Given the description of an element on the screen output the (x, y) to click on. 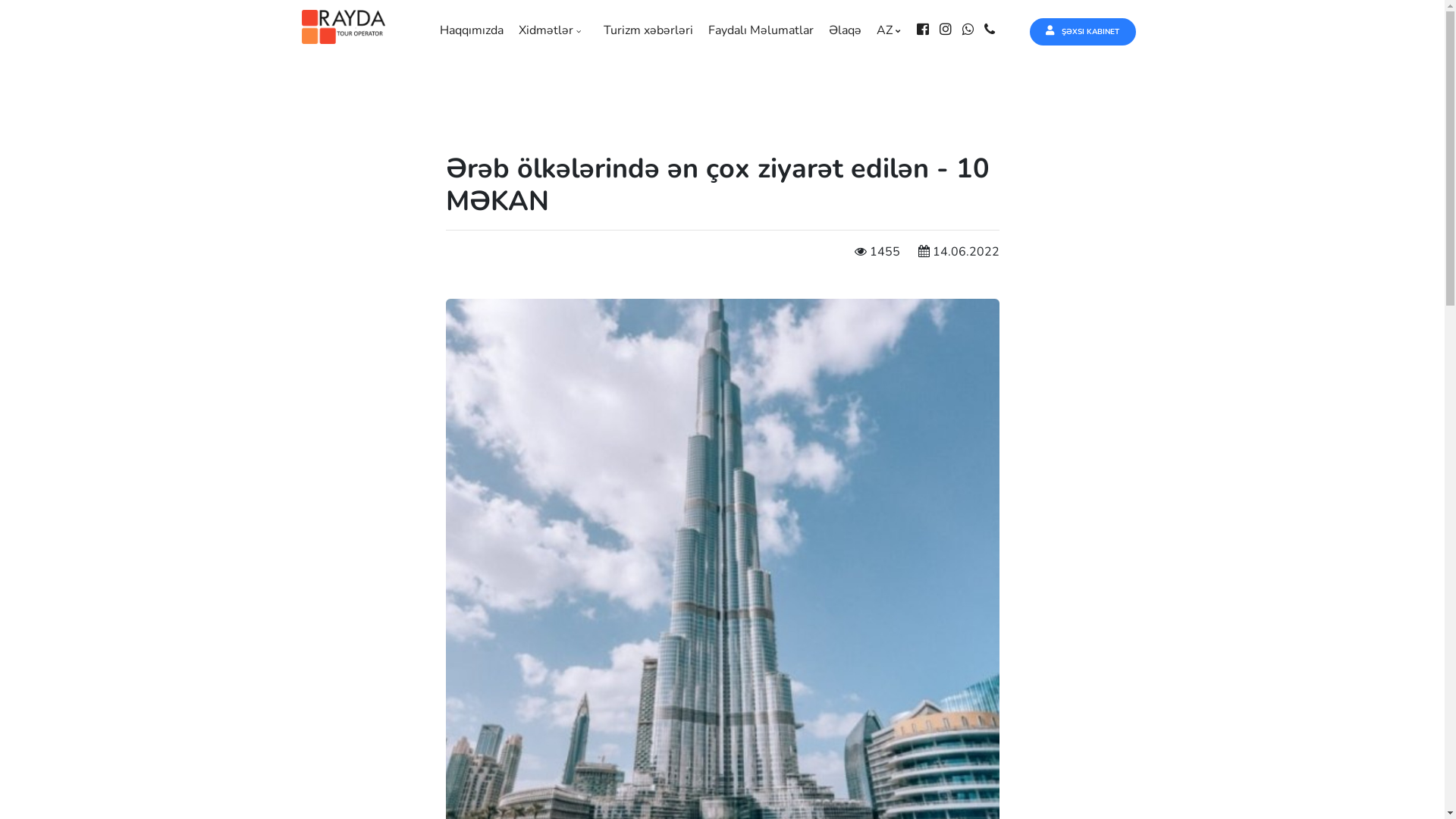
instagram Element type: hover (949, 30)
Phone Element type: hover (993, 30)
AZ Element type: text (891, 30)
facebook Element type: hover (926, 30)
Whatsapp Element type: hover (971, 30)
